Given the description of an element on the screen output the (x, y) to click on. 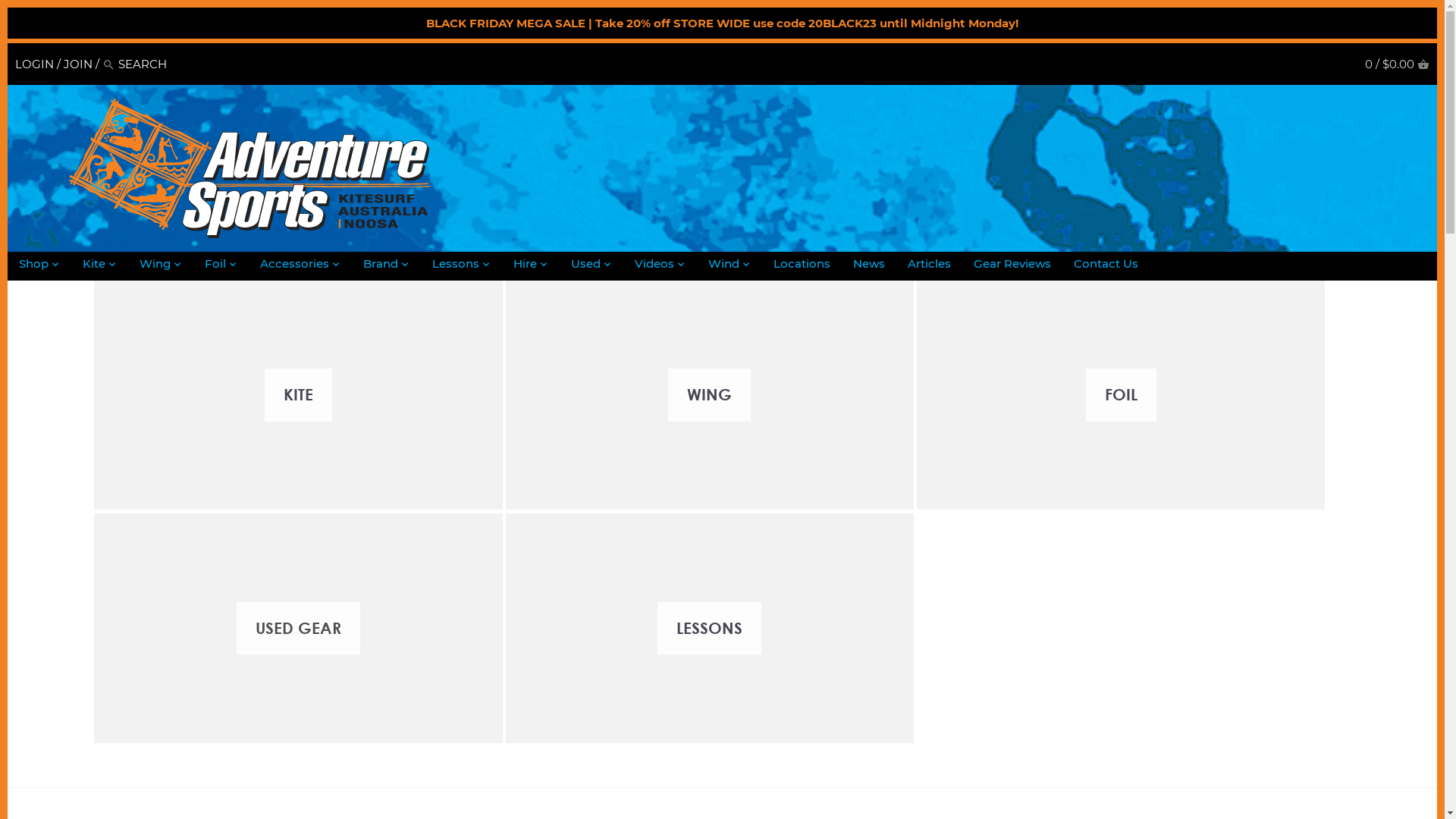
Brand Element type: text (380, 265)
Locations Element type: text (801, 265)
Search Element type: text (108, 64)
Contact Us Element type: text (1105, 265)
Used Element type: text (585, 265)
Lessons Element type: text (455, 265)
News Element type: text (868, 265)
Foil Element type: text (215, 265)
LOGIN Element type: text (34, 63)
Gear Reviews Element type: text (1012, 265)
JOIN Element type: text (77, 63)
KITE Element type: text (298, 395)
LESSONS Element type: text (709, 628)
Kite Element type: text (93, 265)
Wing Element type: text (155, 265)
Accessories Element type: text (294, 265)
Videos Element type: text (654, 265)
WING Element type: text (709, 395)
0 / $0.00 CART Element type: text (1397, 63)
USED GEAR Element type: text (298, 628)
Articles Element type: text (929, 265)
Wind Element type: text (723, 265)
Shop Element type: text (33, 265)
FOIL Element type: text (1120, 395)
Hire Element type: text (525, 265)
